Given the description of an element on the screen output the (x, y) to click on. 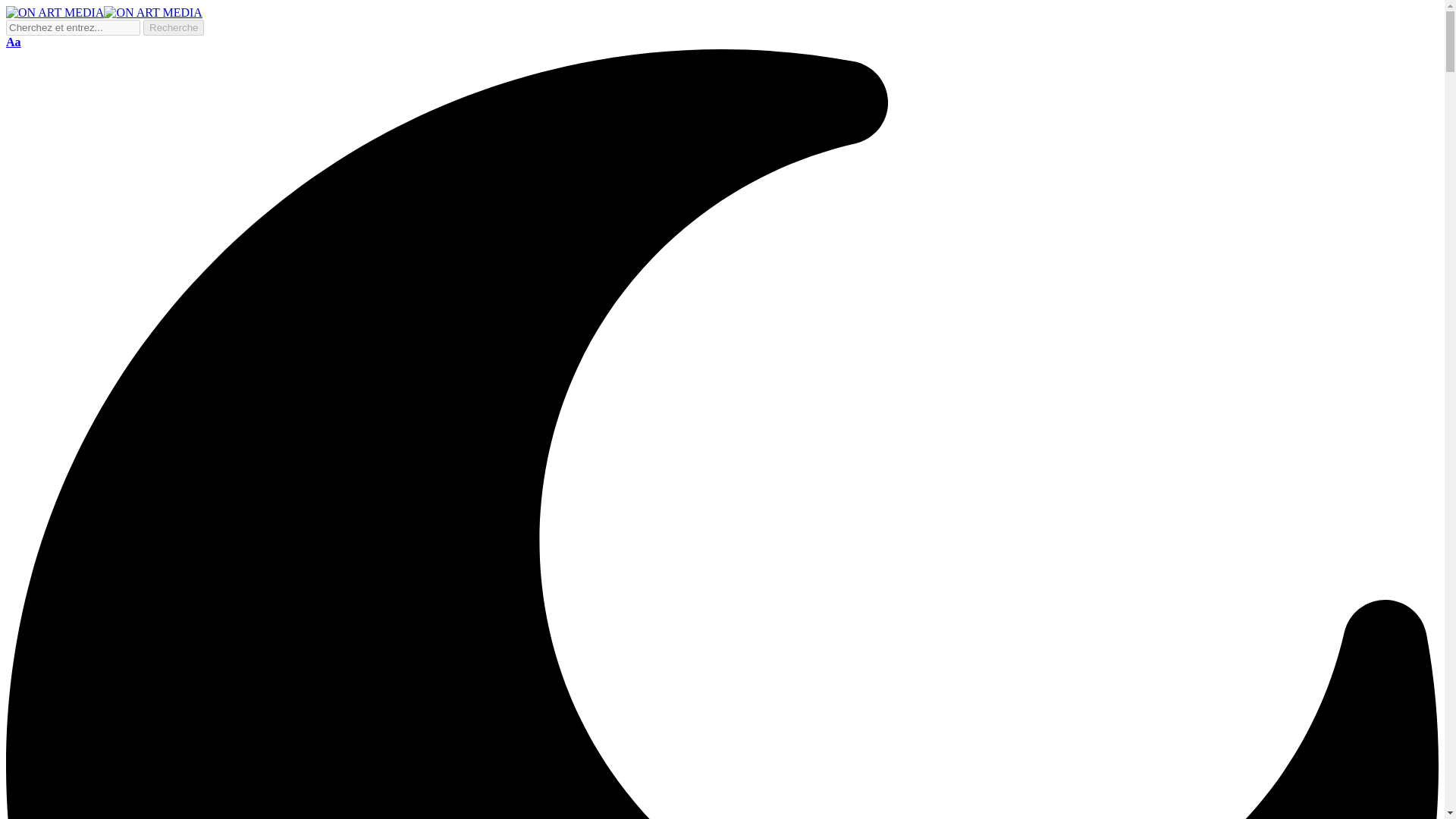
Recherche (172, 27)
Aa (13, 42)
Recherche (172, 27)
ON ART MEDIA (103, 11)
